Given the description of an element on the screen output the (x, y) to click on. 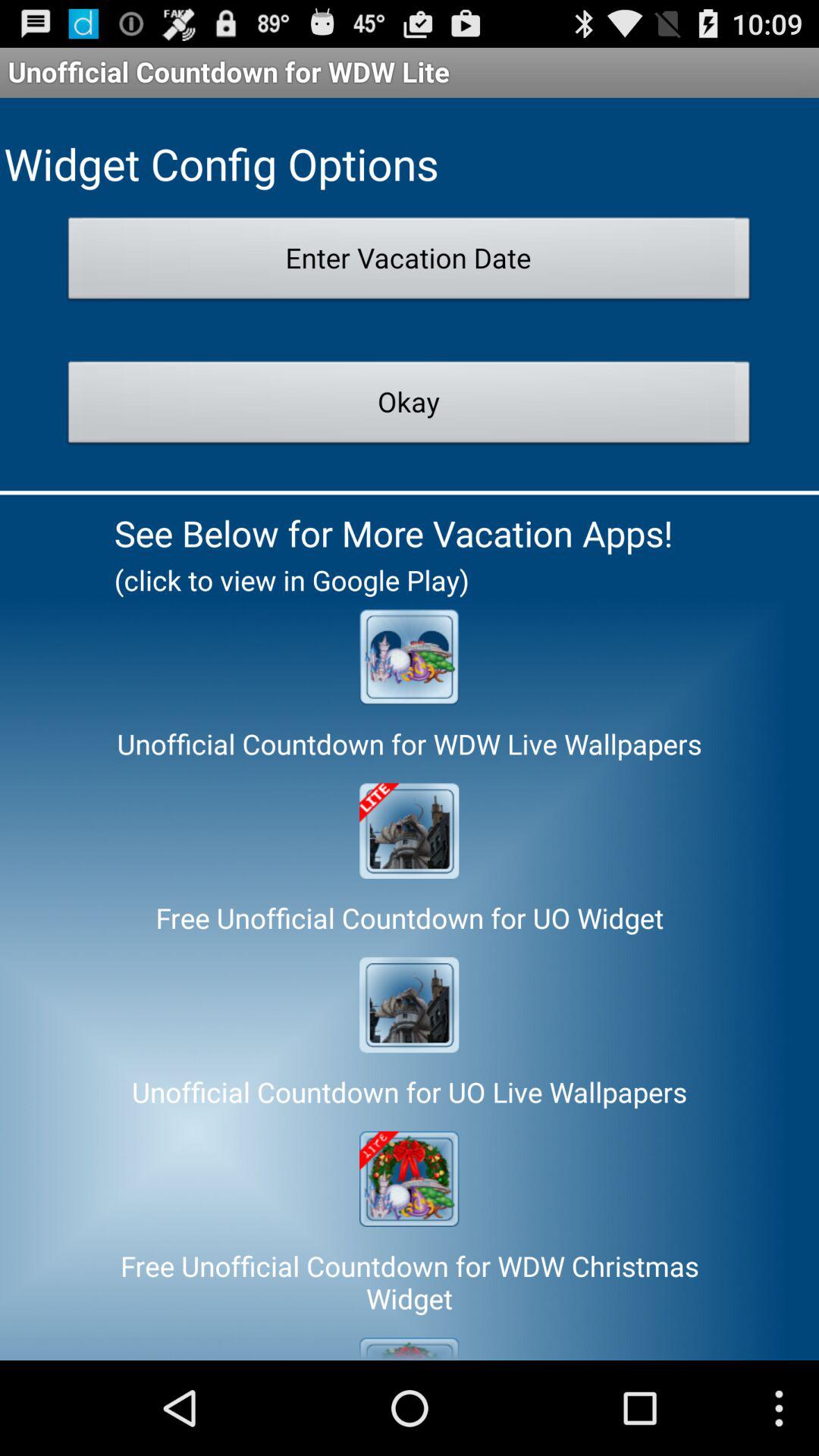
flip until enter vacation date item (408, 262)
